Given the description of an element on the screen output the (x, y) to click on. 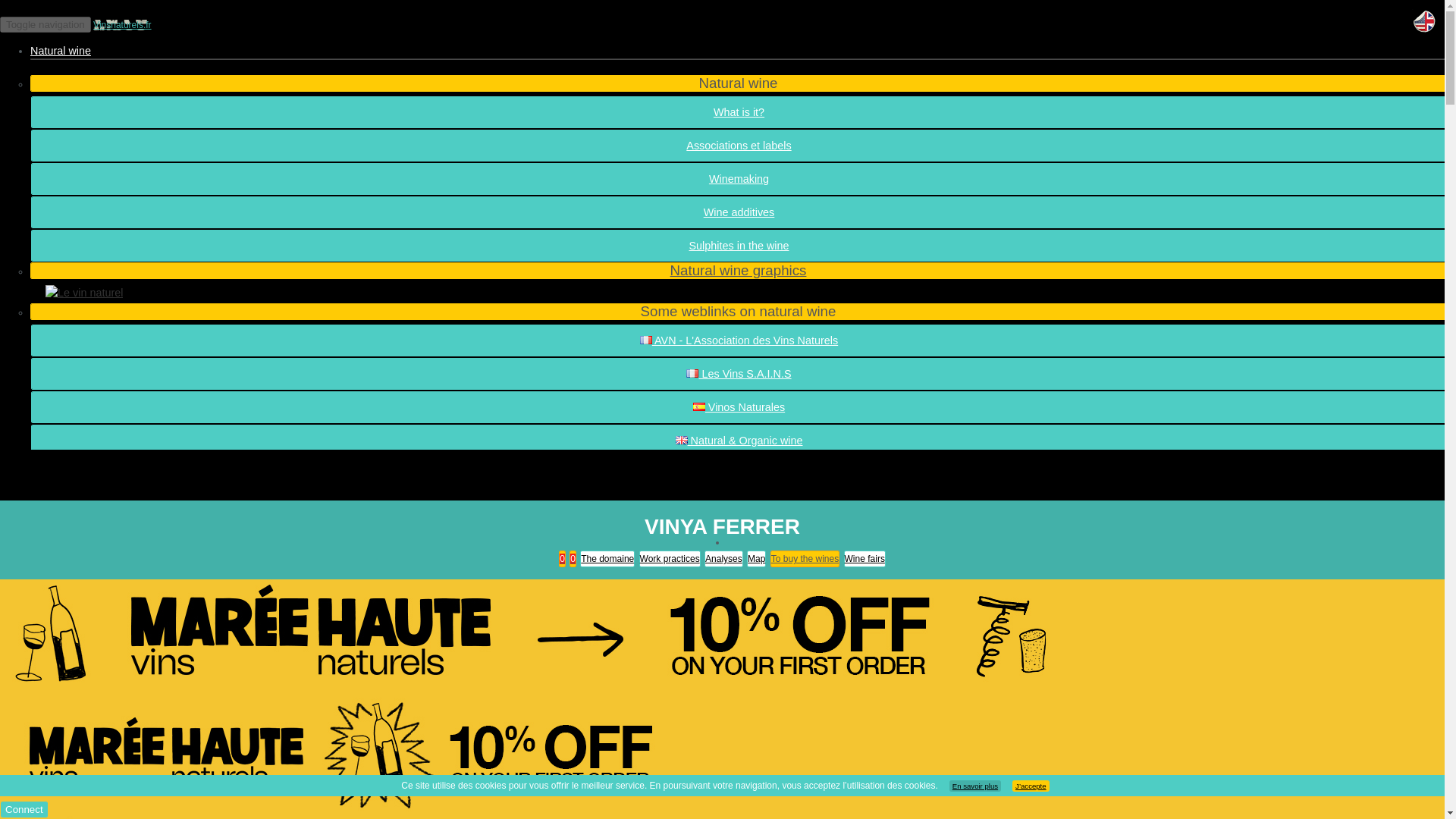
Wine fairs (864, 558)
Map (755, 558)
Analyses (723, 558)
The domaine (606, 558)
Toggle navigation (45, 24)
Natural wine (60, 50)
To buy the wines (805, 558)
Vinsnaturels.fr (122, 24)
Work practices (669, 558)
